Given the description of an element on the screen output the (x, y) to click on. 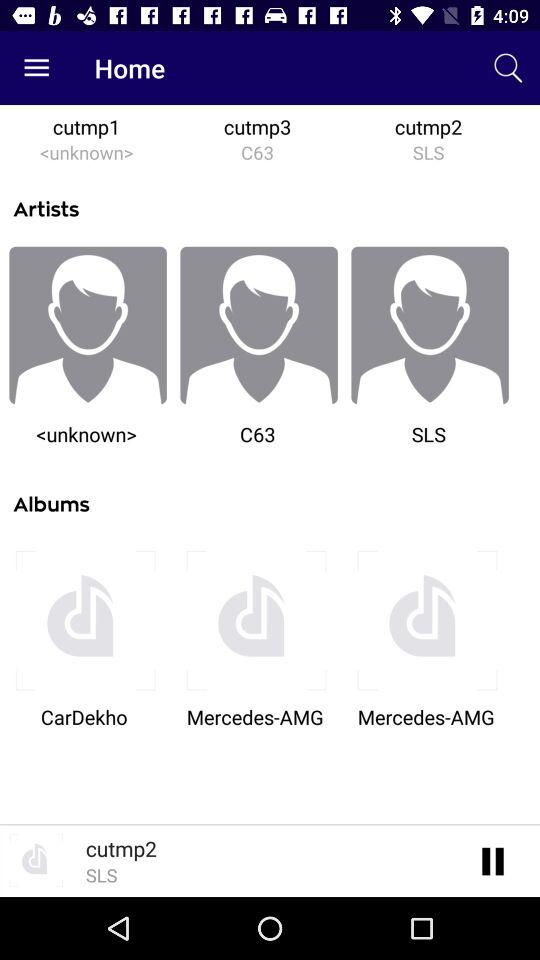
pause (493, 860)
